Given the description of an element on the screen output the (x, y) to click on. 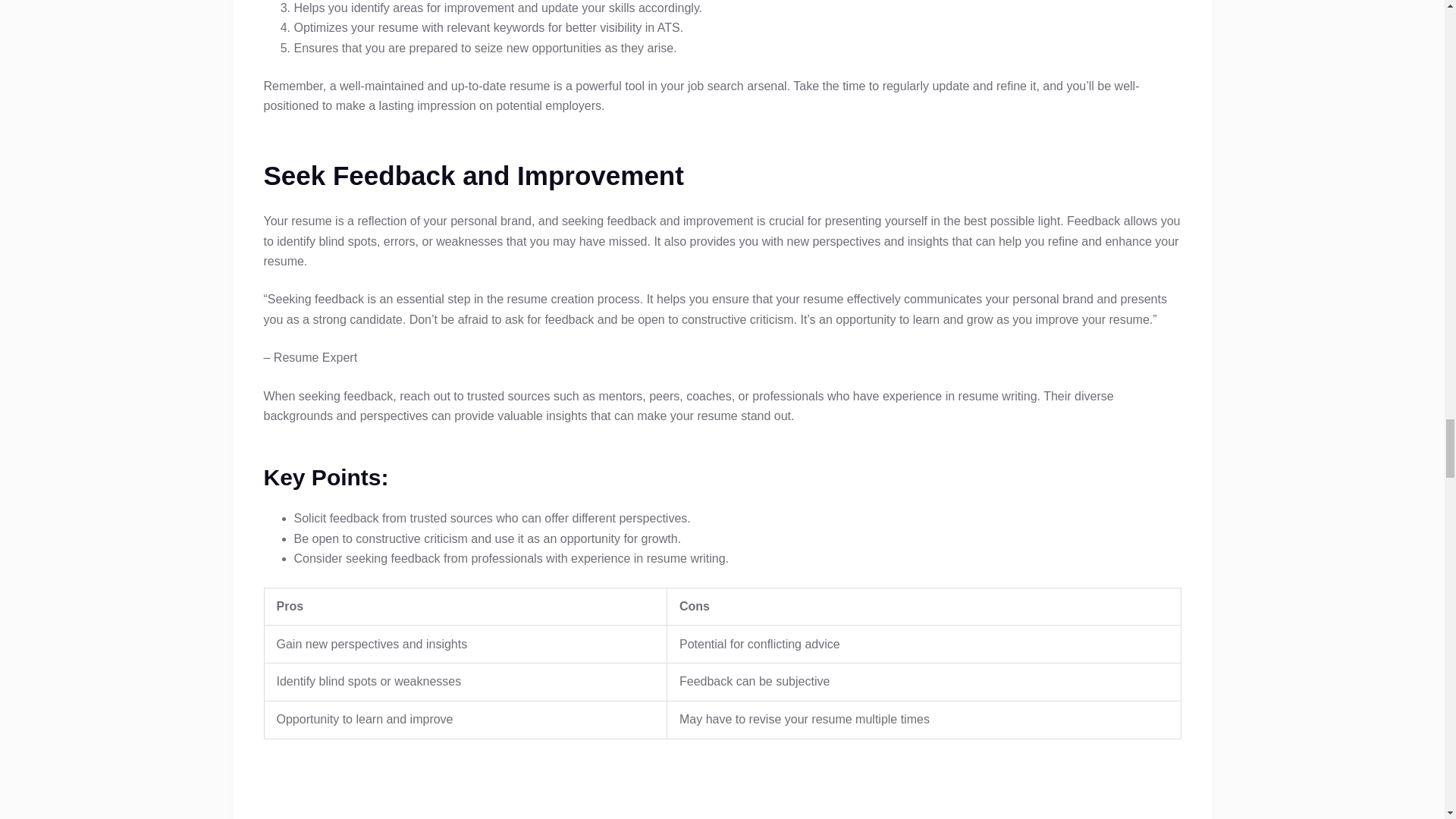
resume feedback (721, 788)
